Given the description of an element on the screen output the (x, y) to click on. 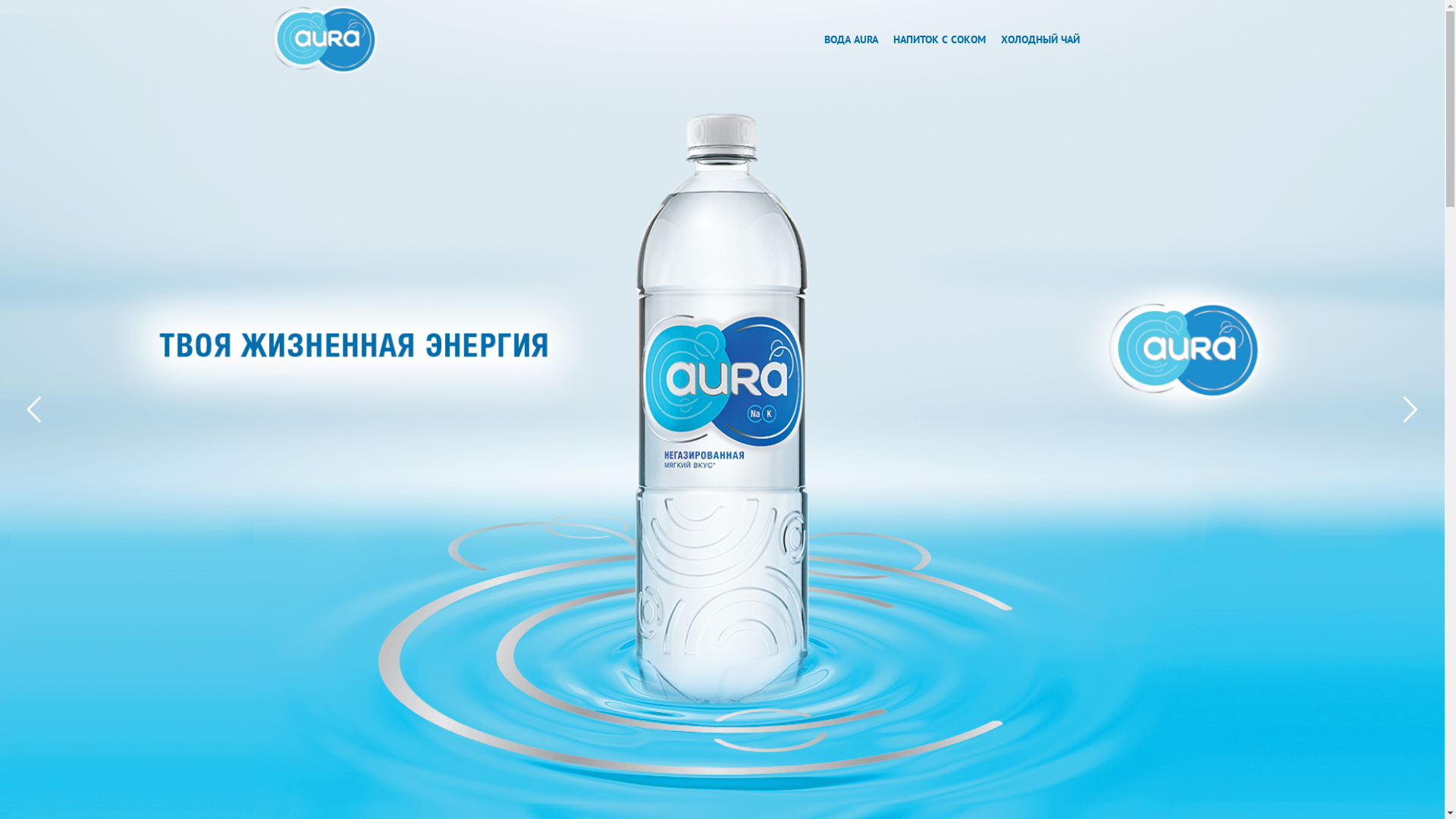
www.lidskae.by Element type: text (299, 796)
ITMEDIA Element type: text (1157, 796)
